Given the description of an element on the screen output the (x, y) to click on. 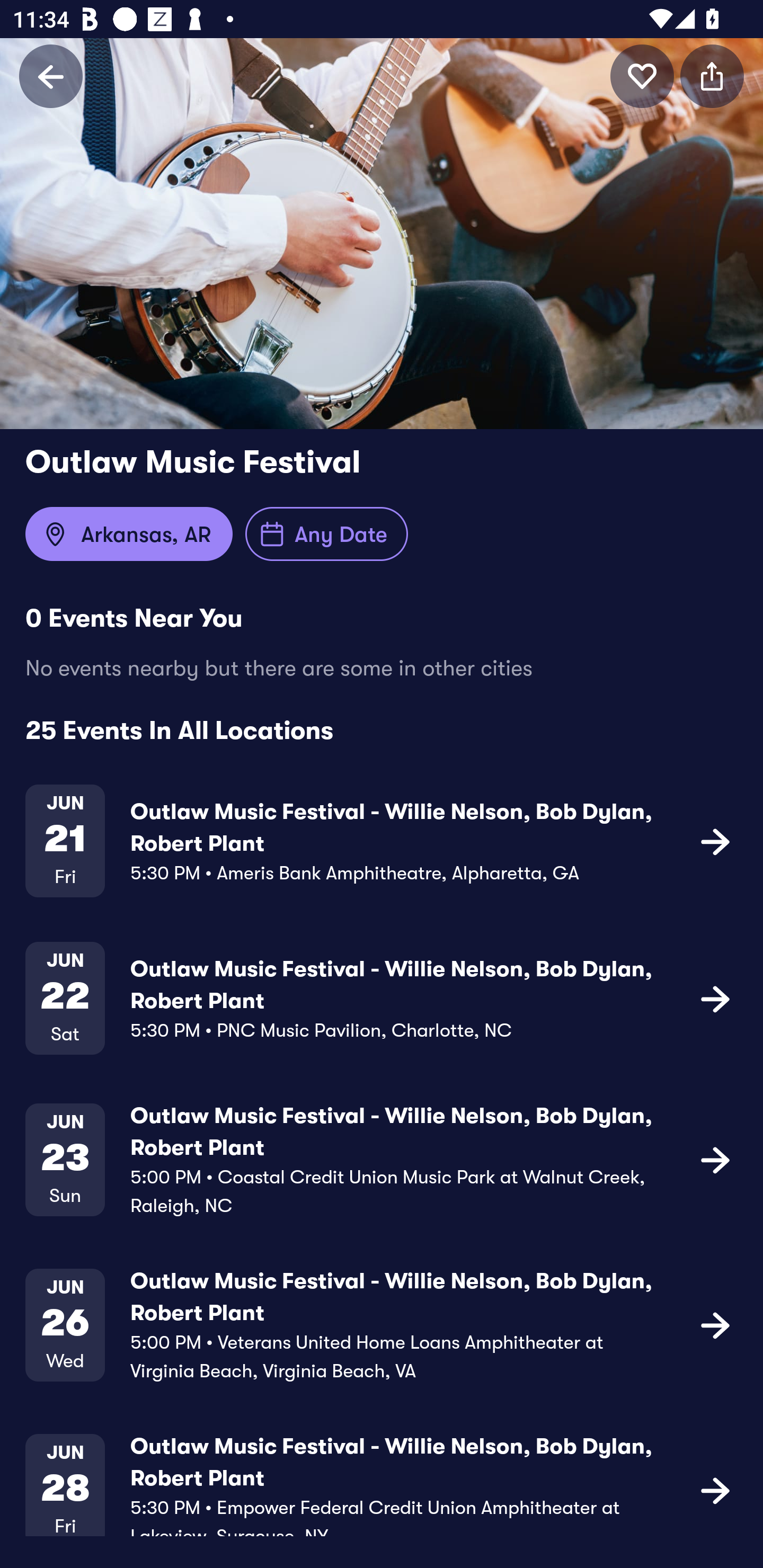
Back (50, 75)
icon button (641, 75)
icon button (711, 75)
Arkansas, AR (128, 533)
Any Date (326, 533)
icon button (714, 840)
icon button (714, 998)
icon button (714, 1159)
icon button (714, 1324)
icon button (714, 1490)
